Given the description of an element on the screen output the (x, y) to click on. 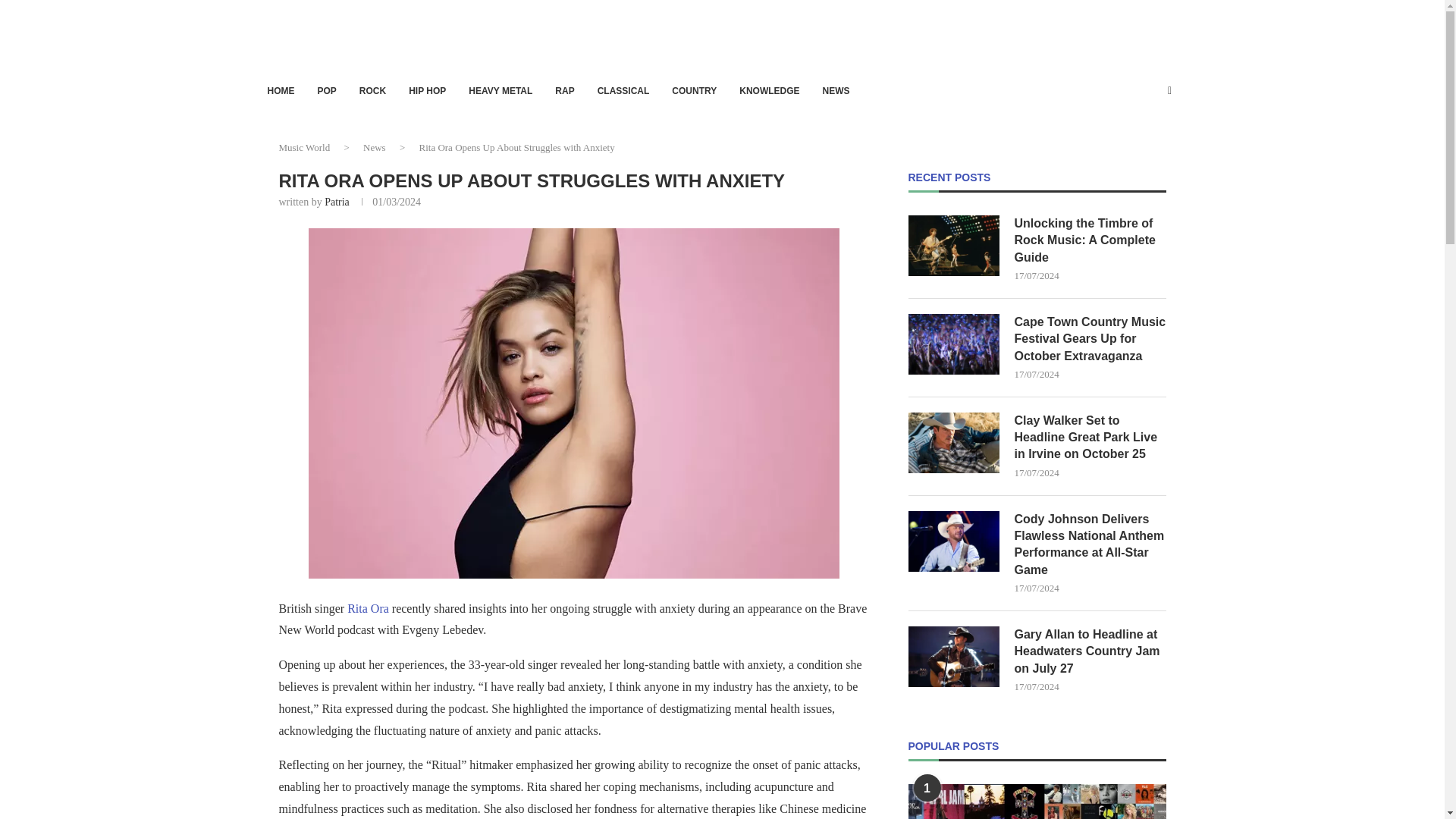
CLASSICAL (622, 90)
HEAVY METAL (500, 90)
KNOWLEDGE (769, 90)
COUNTRY (693, 90)
